Given the description of an element on the screen output the (x, y) to click on. 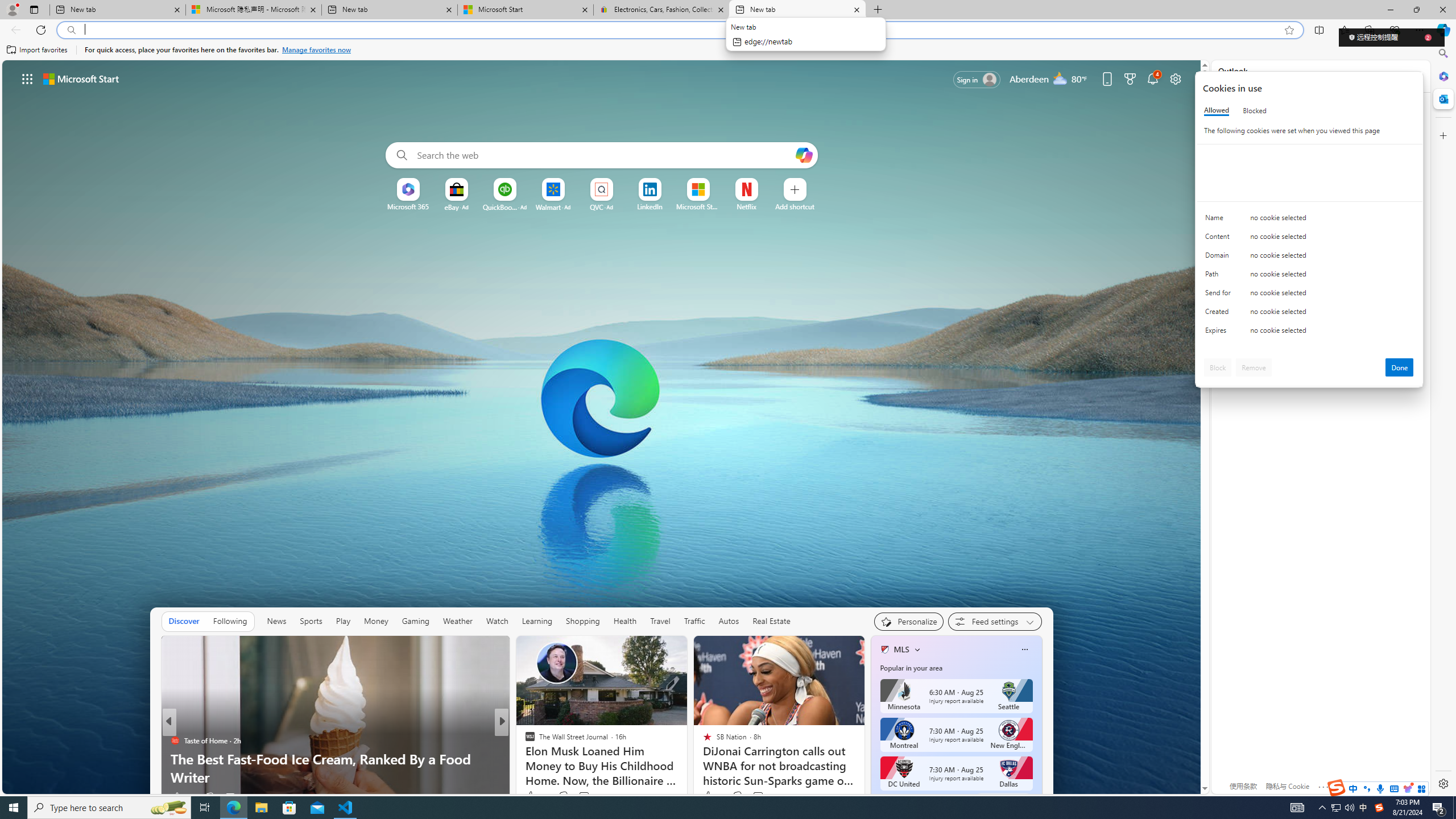
View comments 29 Comment (226, 797)
Dislike (737, 795)
View comments 91 Comment (585, 796)
Money (376, 621)
445 Like (532, 796)
Personalize your feed" (908, 621)
SB Nation (174, 740)
Content (1219, 239)
Feed settings (994, 621)
